Given the description of an element on the screen output the (x, y) to click on. 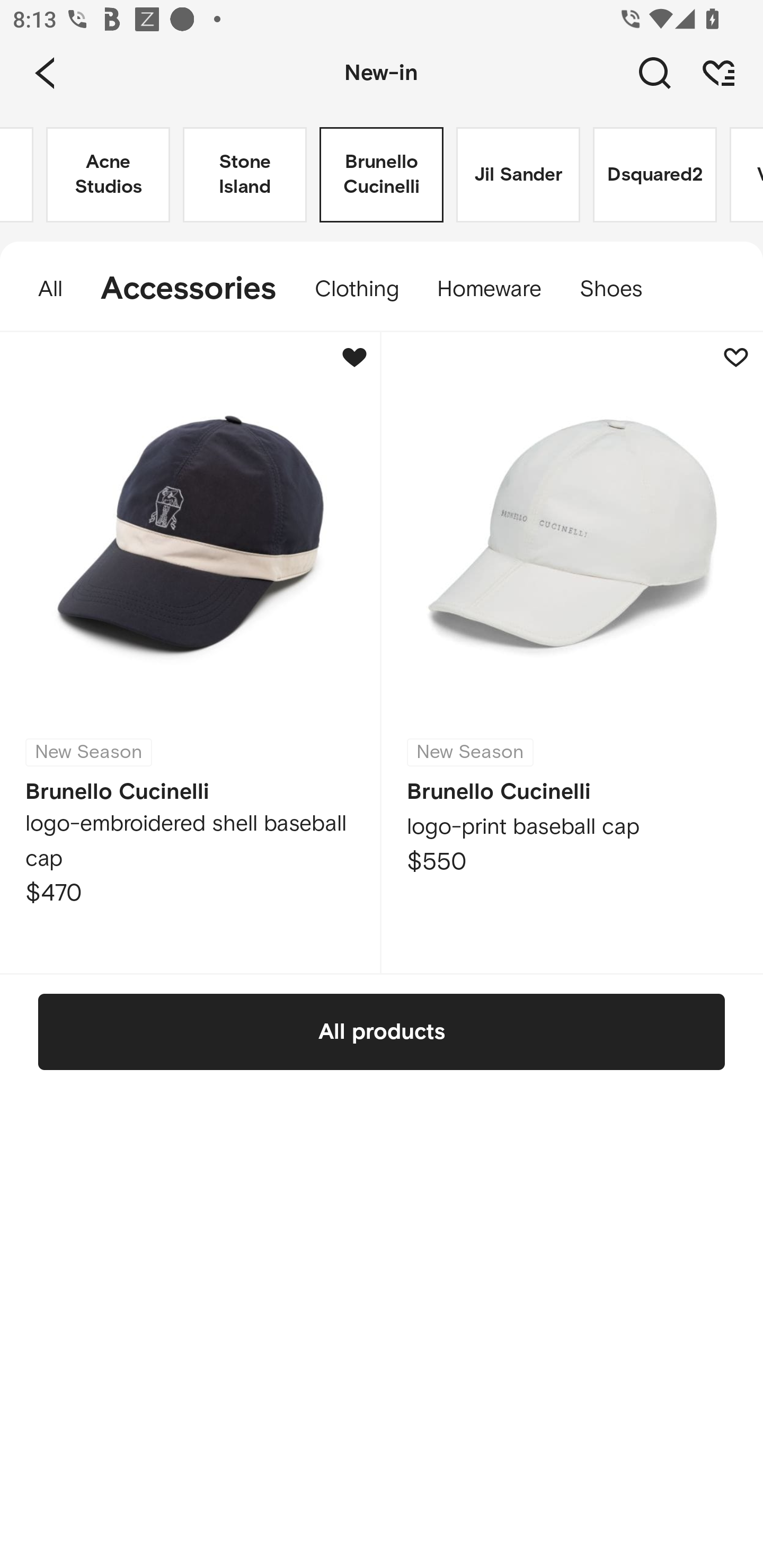
Acne Studios (107, 174)
Stone Island (244, 174)
Brunello Cucinelli (381, 174)
Jil Sander (517, 174)
Dsquared2 (654, 174)
All (40, 288)
Accessories (188, 288)
Clothing (356, 288)
Homeware (489, 288)
Shoes (620, 288)
All products (381, 1031)
